Given the description of an element on the screen output the (x, y) to click on. 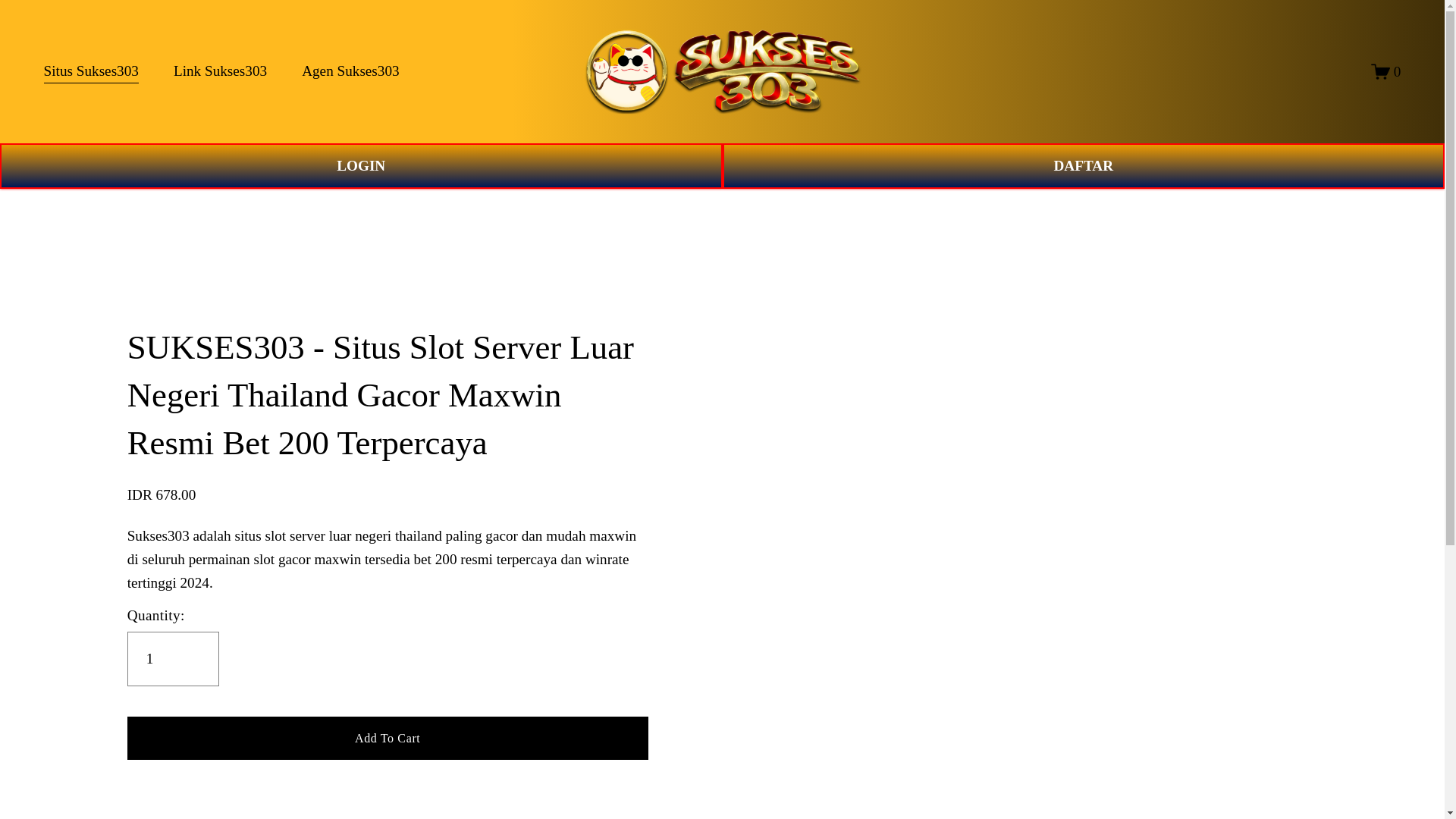
Add To Cart (387, 737)
0 (1385, 71)
LOGIN (361, 166)
Agen Sukses303 (349, 71)
Situs Sukses303 (90, 71)
Link Sukses303 (219, 71)
1 (173, 658)
